Given the description of an element on the screen output the (x, y) to click on. 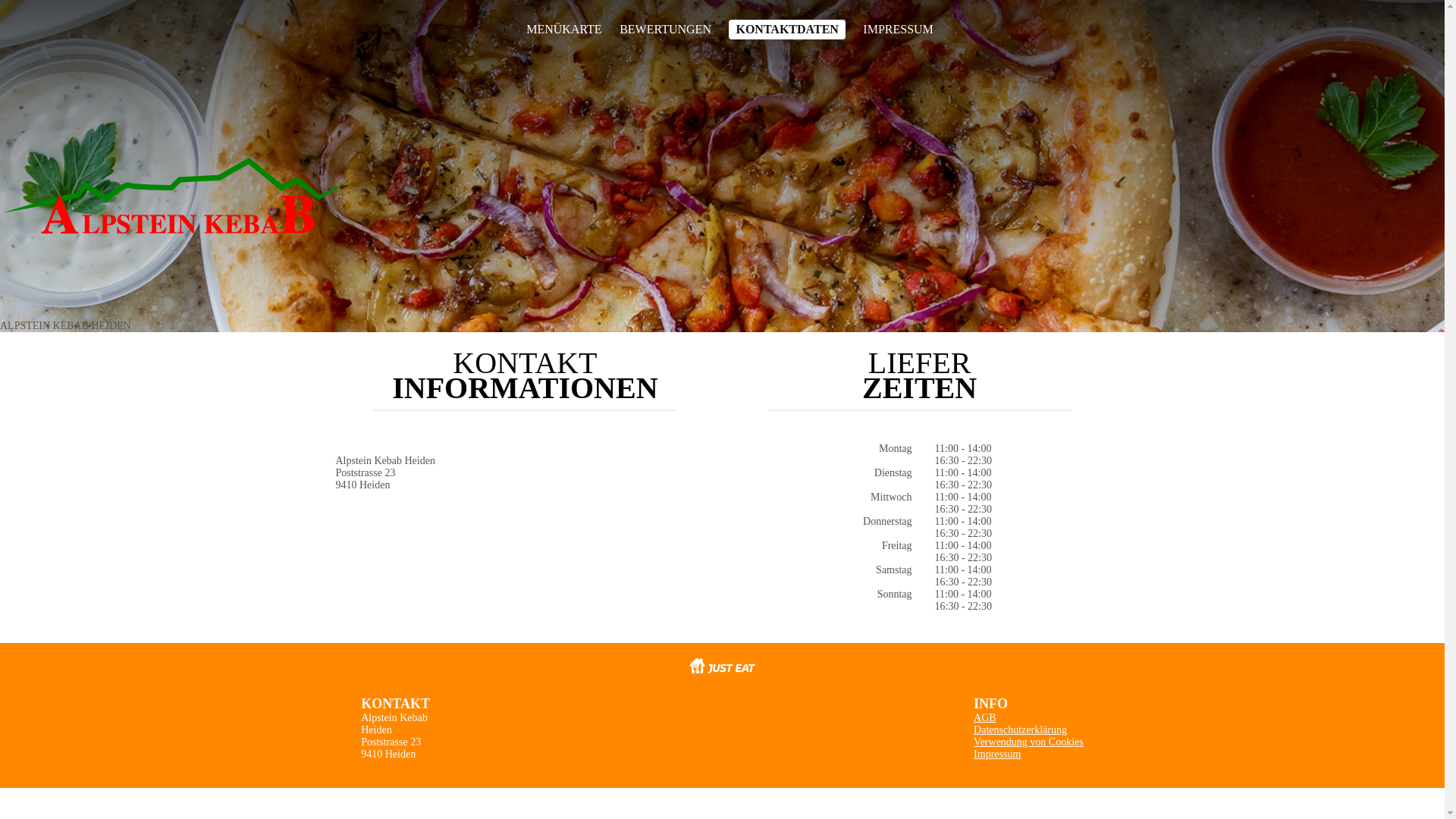
IMPRESSUM Element type: text (897, 29)
BEWERTUNGEN Element type: text (665, 29)
Impressum Element type: text (996, 753)
KONTAKTDATEN Element type: text (786, 29)
Verwendung von Cookies Element type: text (1028, 741)
AGB Element type: text (984, 717)
